Given the description of an element on the screen output the (x, y) to click on. 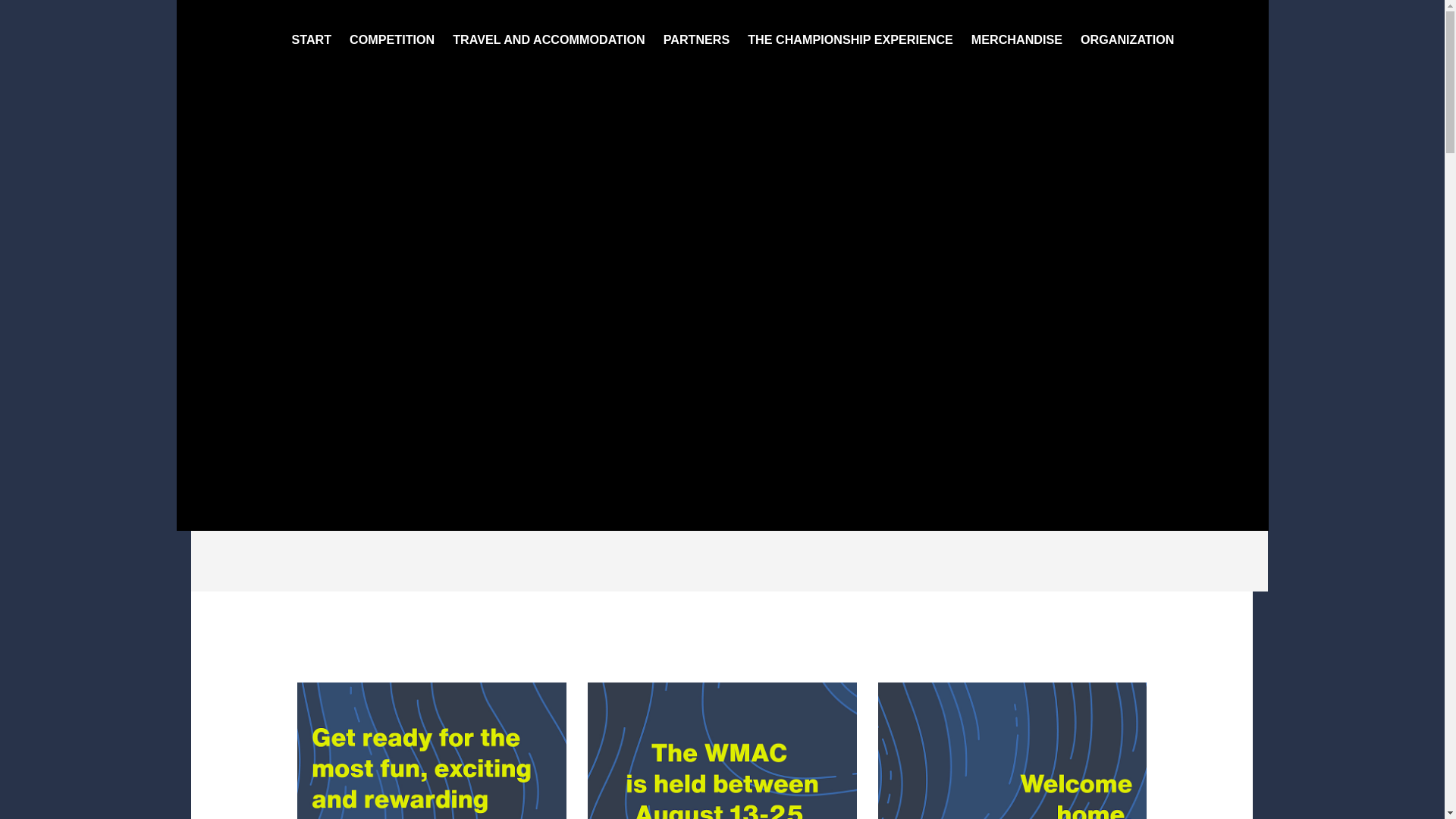
TRAVEL AND ACCOMMODATION Element type: text (548, 39)
ORGANIZATION Element type: text (1127, 39)
PARTNERS Element type: text (696, 39)
START Element type: text (311, 39)
MERCHANDISE Element type: text (1016, 39)
COMPETITION Element type: text (391, 39)
THE CHAMPIONSHIP EXPERIENCE Element type: text (850, 39)
